Given the description of an element on the screen output the (x, y) to click on. 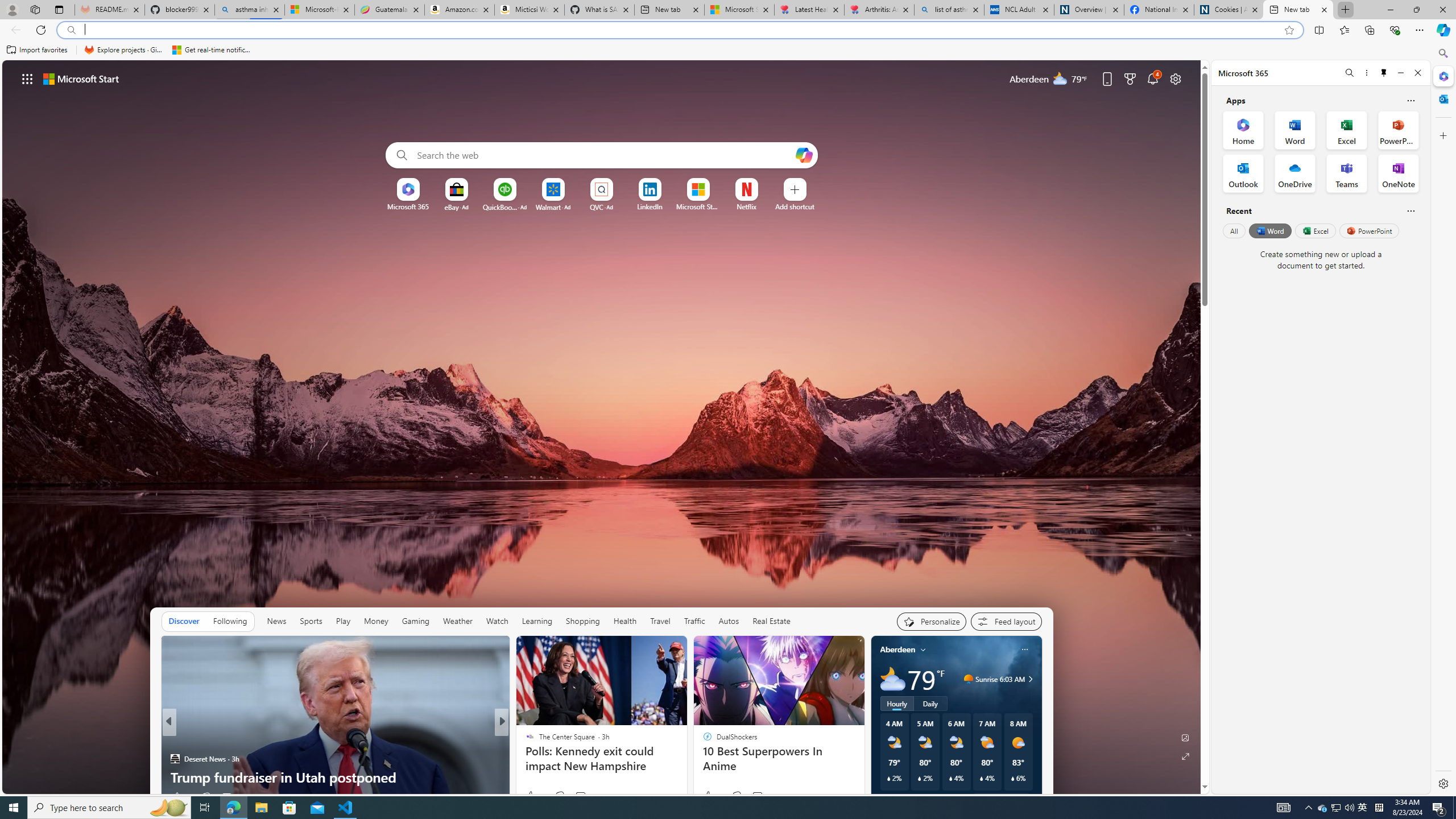
View comments 31 Comment (585, 796)
Edit Background (1185, 737)
12 Like (534, 795)
220 Like (532, 796)
Expand background (1185, 756)
Page settings (1175, 78)
